Given the description of an element on the screen output the (x, y) to click on. 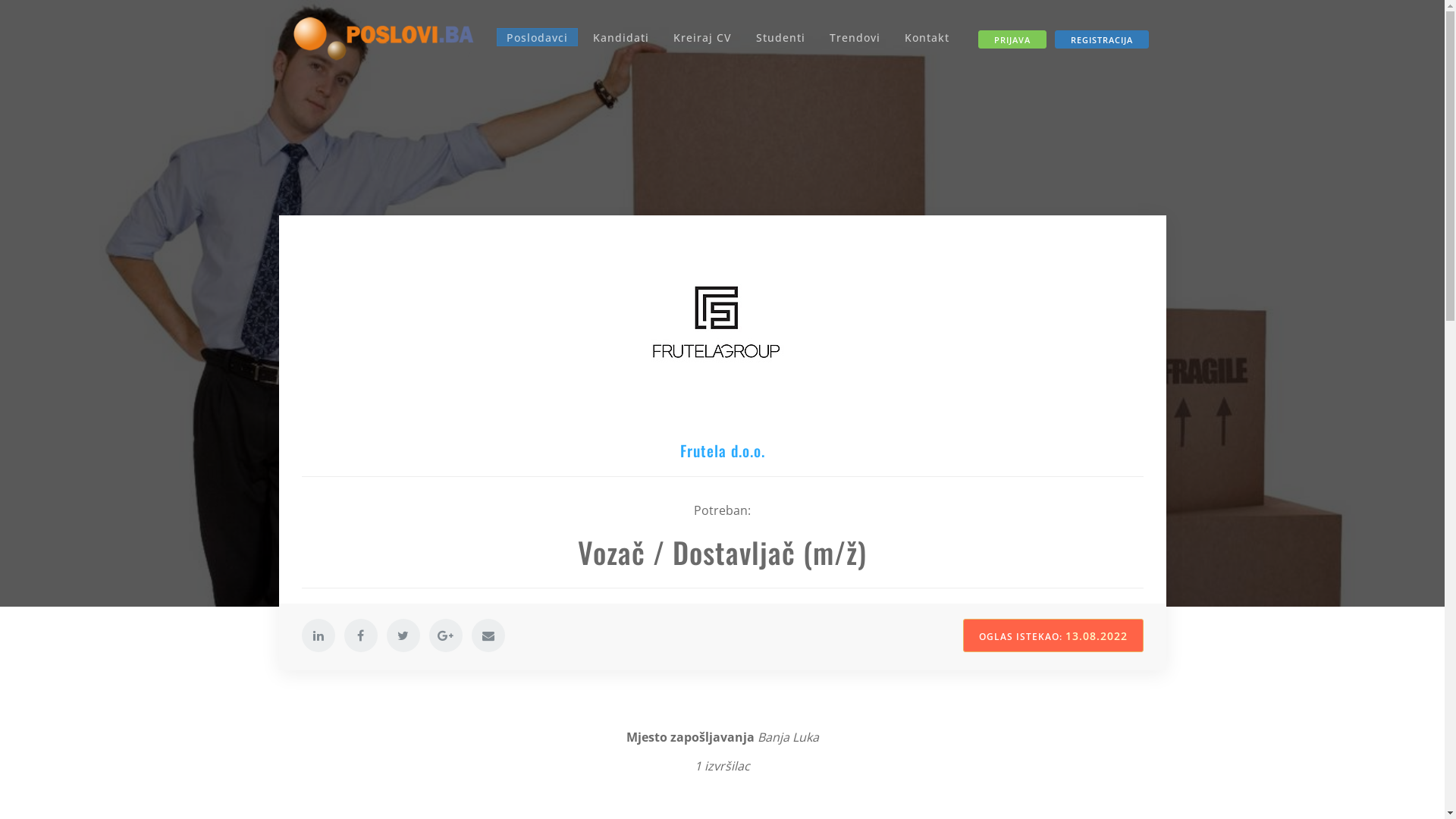
Kandidati Element type: text (620, 37)
PRIJAVA Element type: text (1012, 39)
OGLAS ISTEKAO: 13.08.2022 Element type: text (1053, 635)
Kreiraj CV Element type: text (702, 37)
Poslodavci Element type: text (537, 37)
REGISTRACIJA Element type: text (1101, 39)
Frutela Group Element type: hover (722, 332)
Studenti Element type: text (780, 37)
Kontakt Element type: text (926, 37)
Trendovi Element type: text (854, 37)
